Given the description of an element on the screen output the (x, y) to click on. 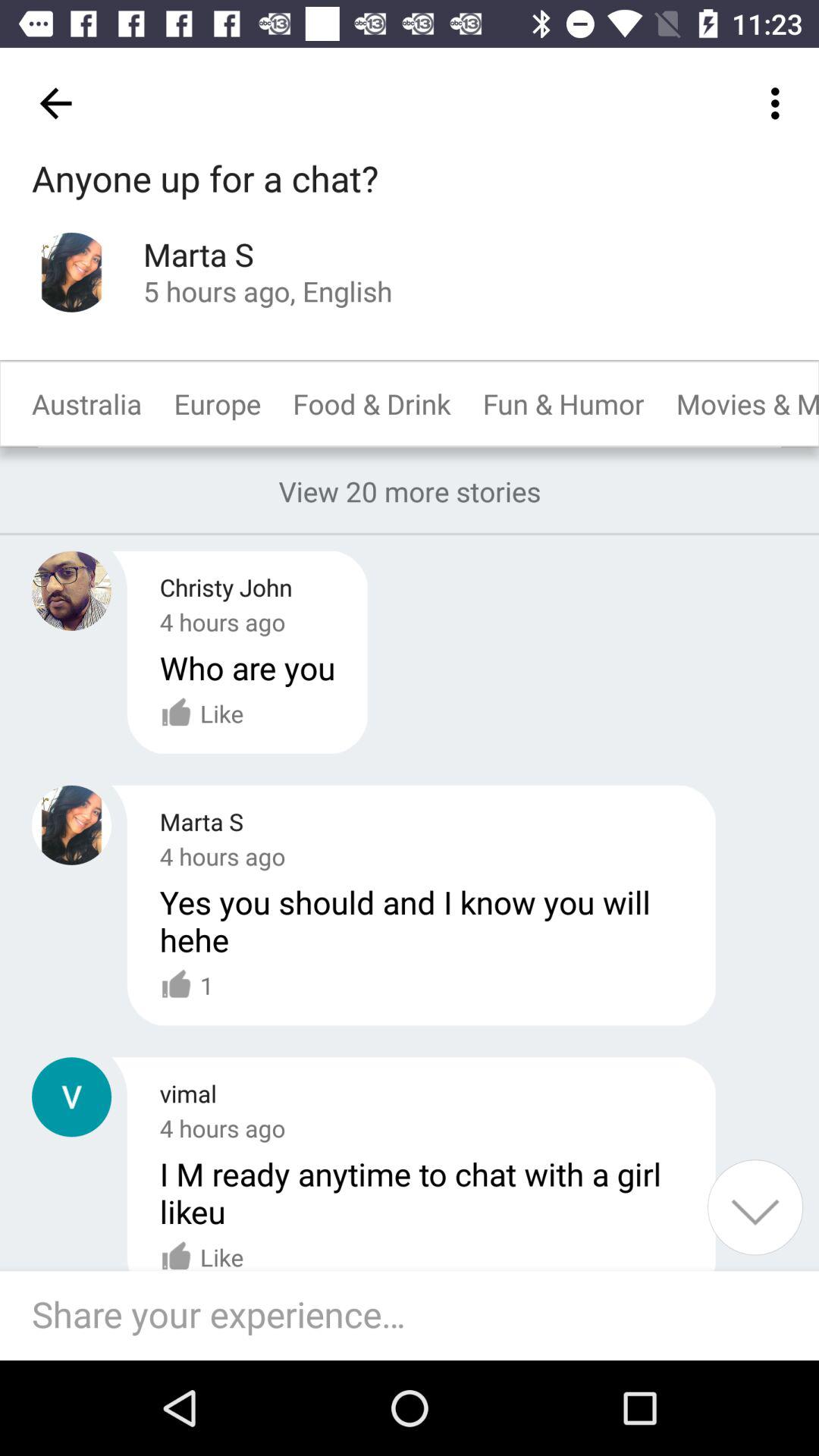
scroll down (755, 1207)
